Given the description of an element on the screen output the (x, y) to click on. 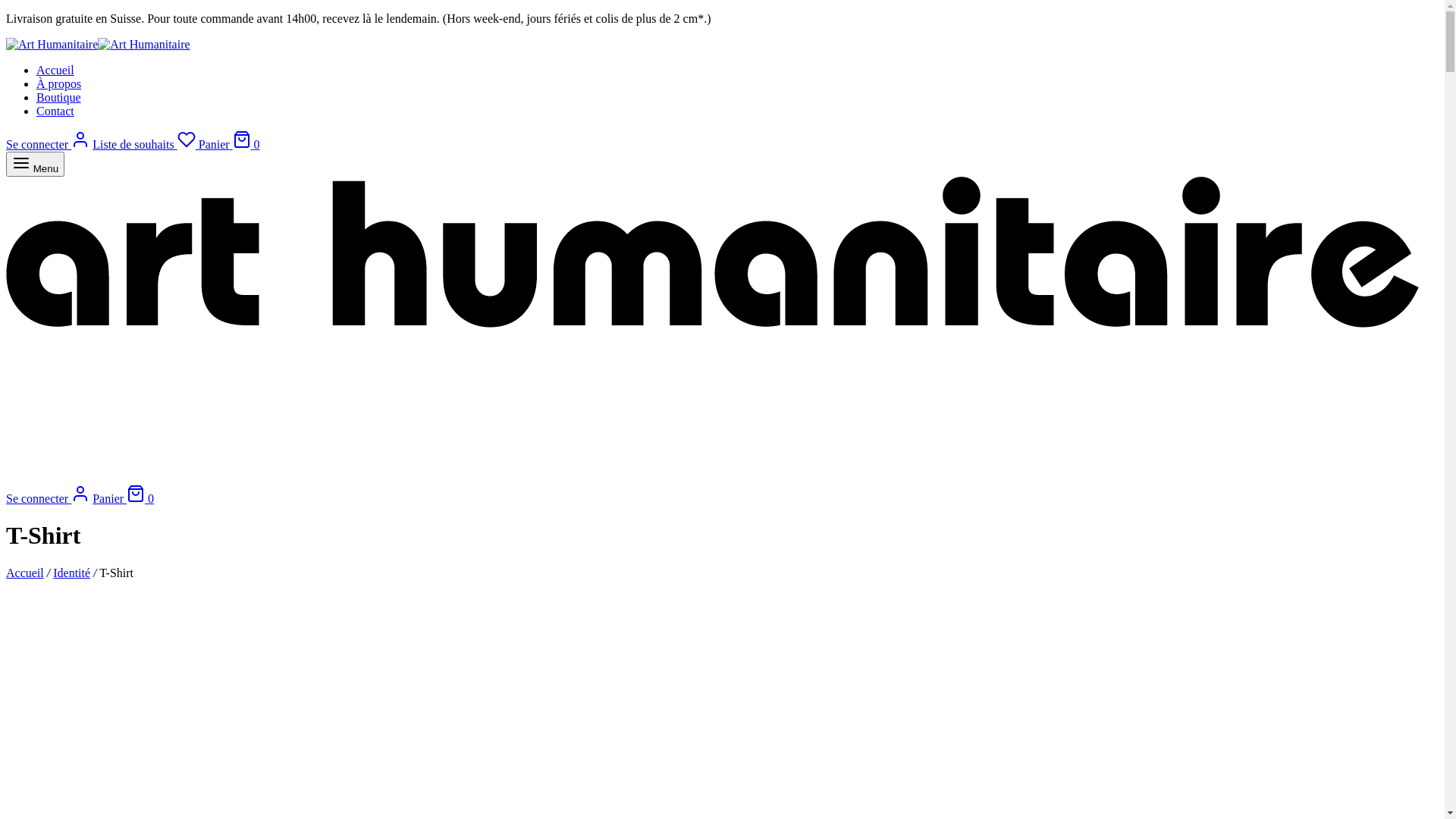
Accueil Element type: text (55, 69)
Menu Element type: text (35, 163)
Liste de souhaits Element type: text (145, 144)
Panier 0 Element type: text (122, 498)
Se connecter Element type: text (47, 498)
Accueil Element type: text (24, 572)
Se connecter Element type: text (47, 144)
Contact Element type: text (55, 110)
Boutique Element type: text (58, 97)
Panier 0 Element type: text (229, 144)
